Given the description of an element on the screen output the (x, y) to click on. 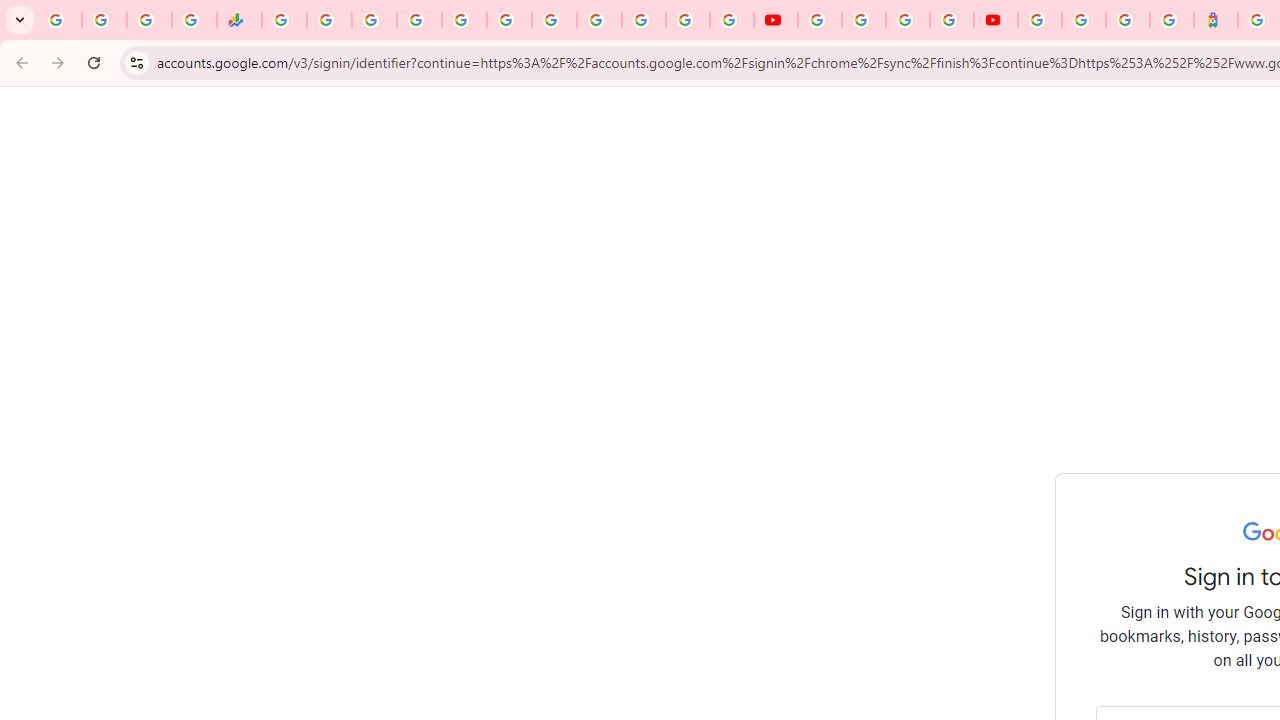
Content Creator Programs & Opportunities - YouTube Creators (995, 20)
Sign in - Google Accounts (643, 20)
Privacy Checkup (731, 20)
Google Workspace Admin Community (59, 20)
Sign in - Google Accounts (418, 20)
YouTube (819, 20)
